Given the description of an element on the screen output the (x, y) to click on. 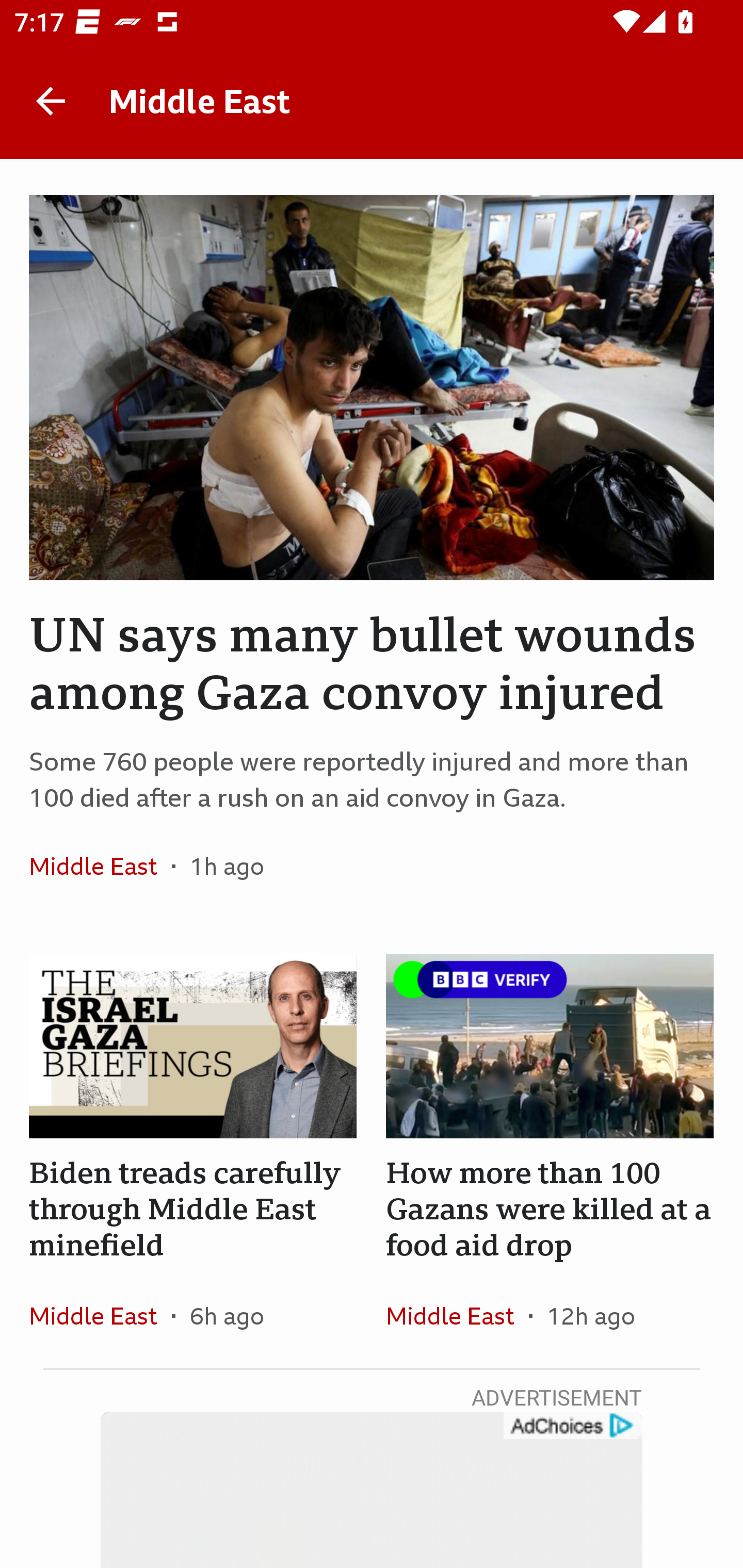
Back (50, 101)
Middle East In the section Middle East (99, 865)
Middle East In the section Middle East (99, 1315)
Middle East In the section Middle East (457, 1315)
get?name=admarker-full-tl (571, 1425)
